Given the description of an element on the screen output the (x, y) to click on. 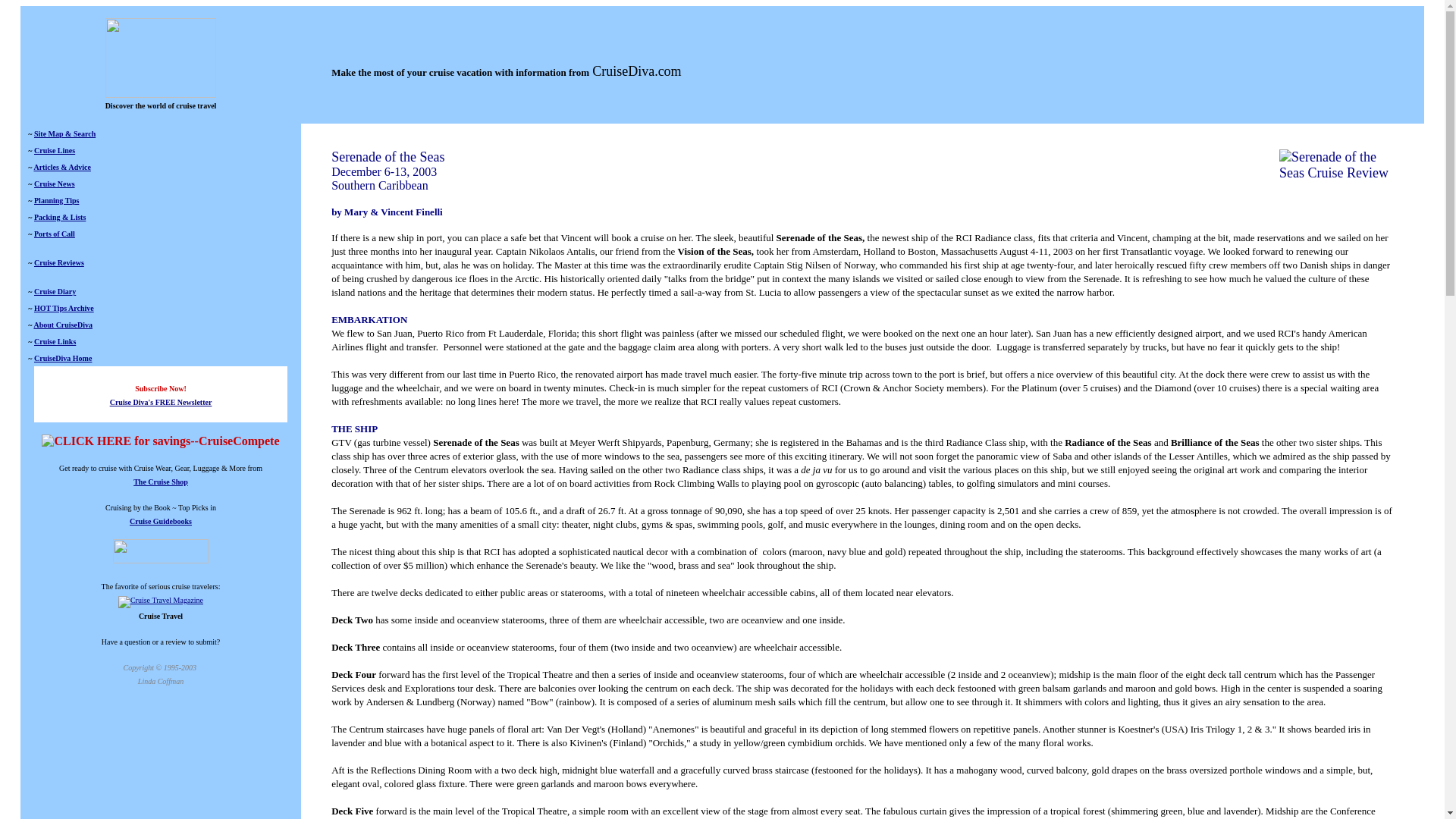
Cruise Diva's FREE Newsletter (161, 409)
Cruise News (54, 183)
Ports of Call (54, 234)
Cruise Guidebooks (160, 520)
Cruise Links (54, 341)
The Cruise Shop (160, 480)
Cruise Reviews (58, 262)
Cruise Diary (54, 291)
CruiseDiva Home (62, 357)
About CruiseDiva (63, 325)
Cruise Lines (54, 150)
HOT Tips Archive (63, 307)
Planning Tips (55, 200)
